Given the description of an element on the screen output the (x, y) to click on. 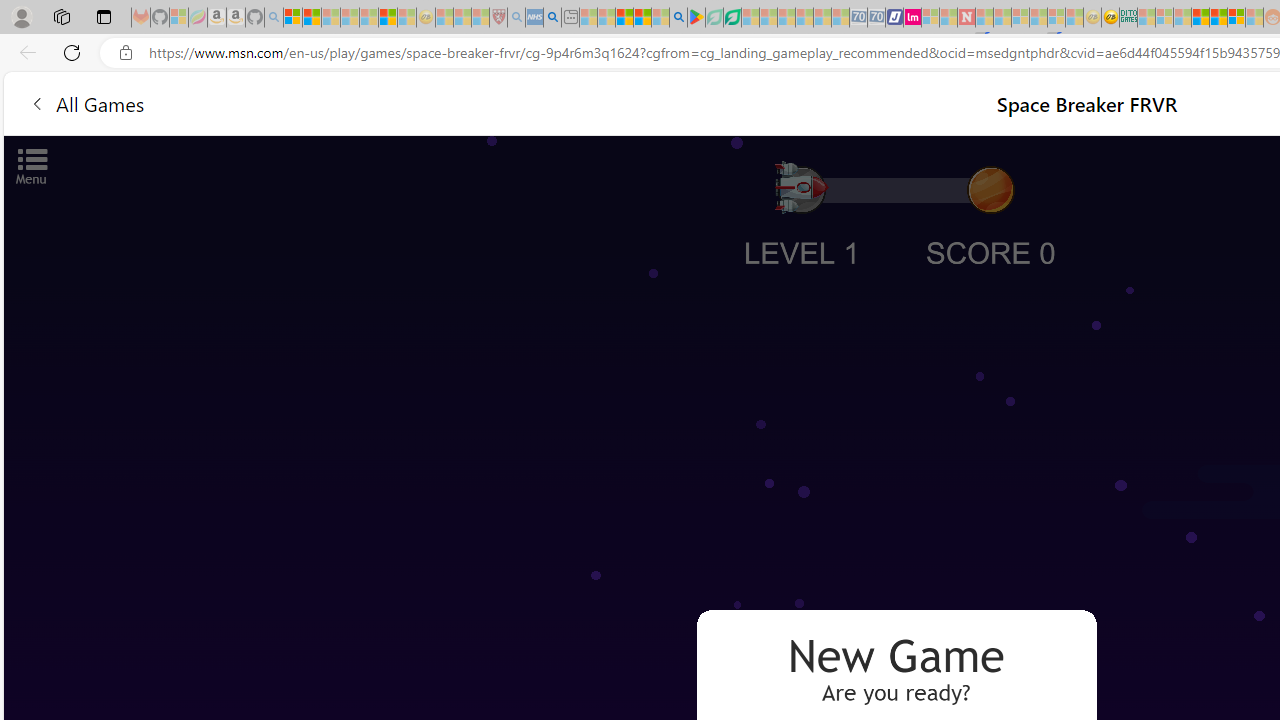
Pets - MSN (642, 17)
14 Common Myths Debunked By Scientific Facts - Sleeping (1002, 17)
Expert Portfolios (1200, 17)
Robert H. Shmerling, MD - Harvard Health - Sleeping (498, 17)
